Given the description of an element on the screen output the (x, y) to click on. 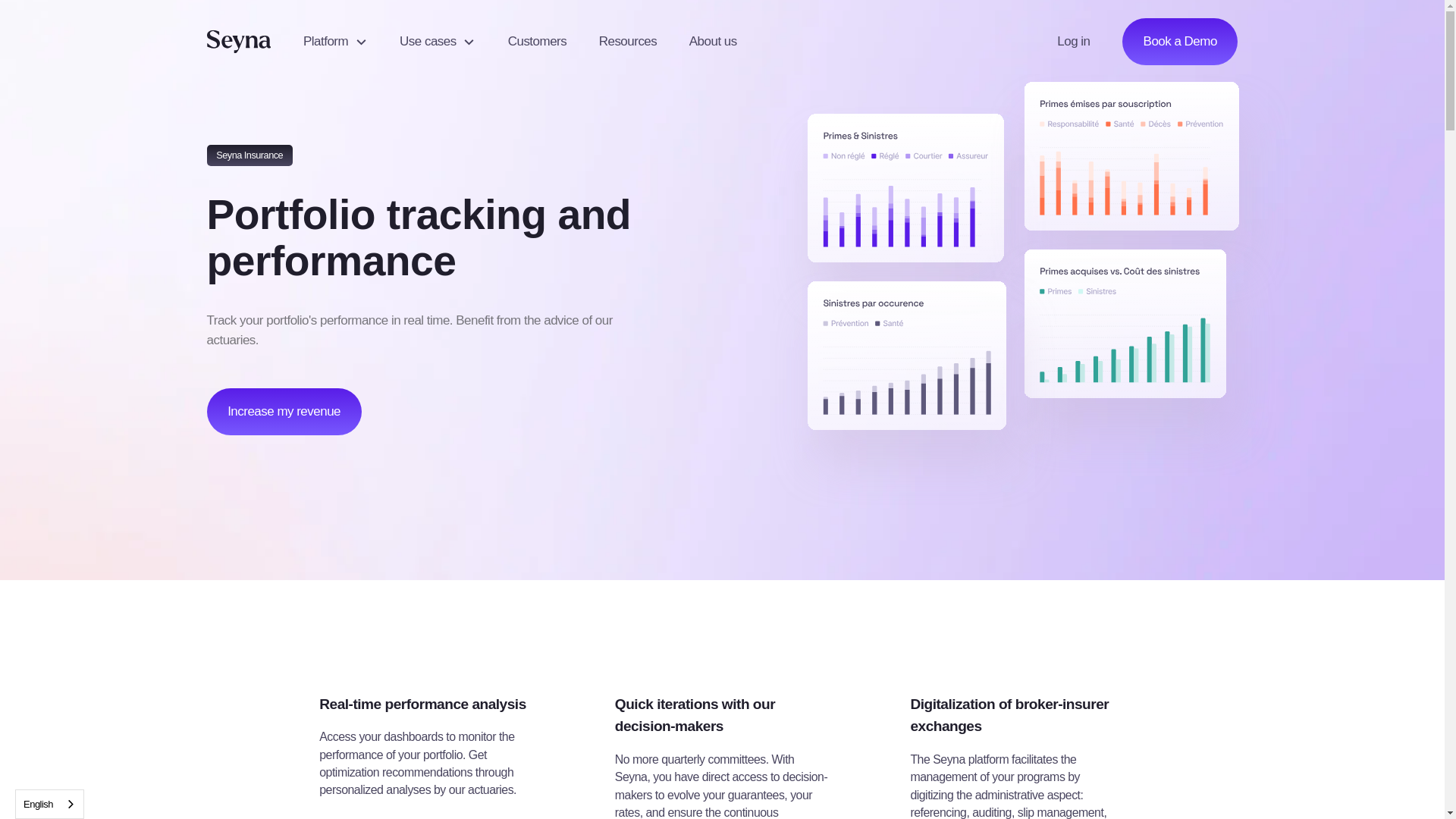
Customers (537, 41)
Book a Demo (1180, 41)
Increase my revenue (283, 411)
Resources (627, 41)
About us (712, 41)
